Given the description of an element on the screen output the (x, y) to click on. 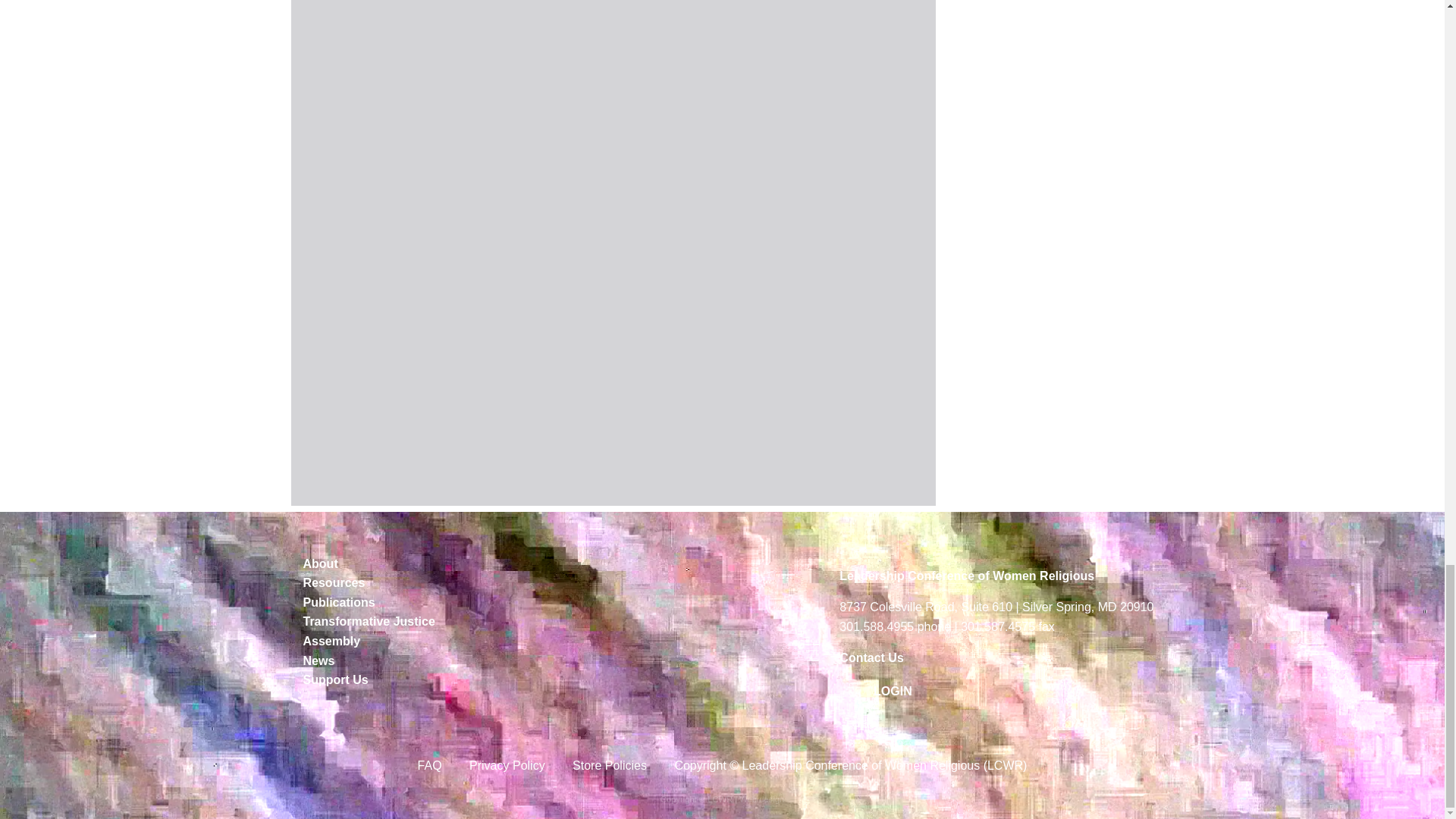
News (463, 660)
Store Policies (609, 765)
Contact Us (871, 657)
Transformative Justice (463, 621)
Support LCWR (463, 680)
Support Us (463, 680)
LOGIN (892, 691)
Resources (463, 582)
About (463, 564)
Assembly (463, 641)
